Given the description of an element on the screen output the (x, y) to click on. 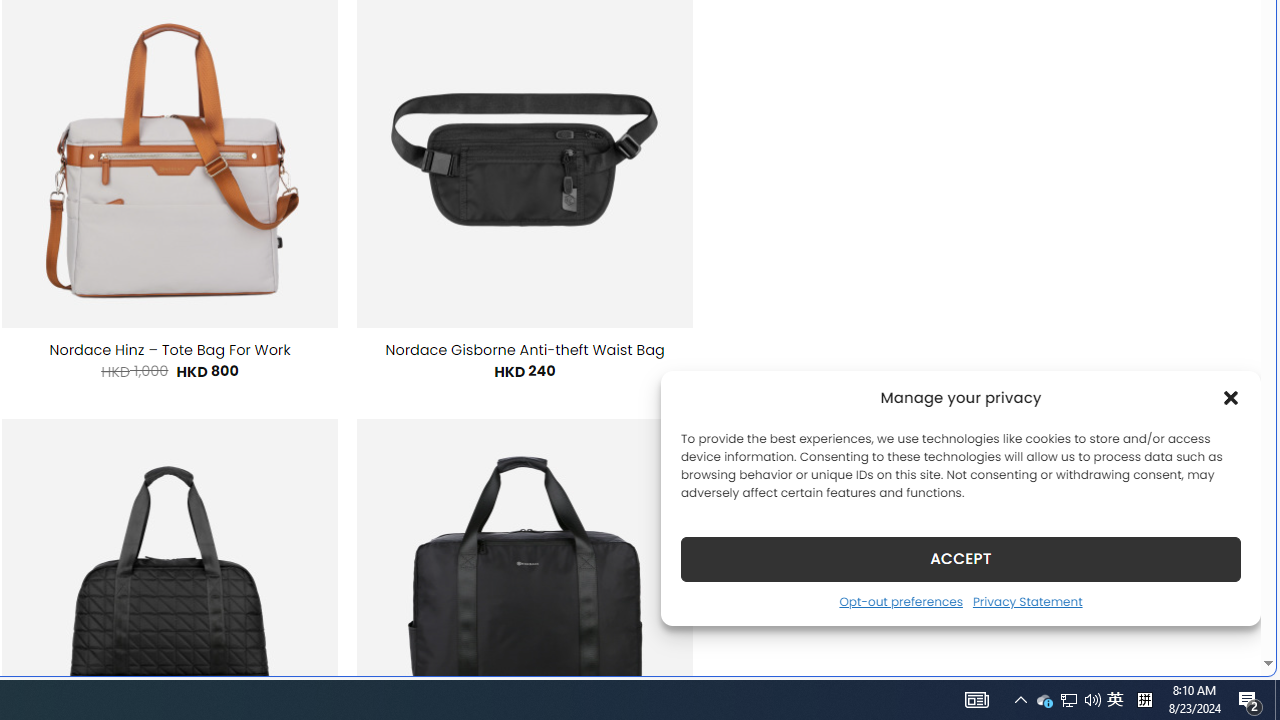
Nordace Gisborne Anti-theft Waist Bag (525, 350)
ACCEPT (960, 558)
Class: cmplz-close (1231, 397)
Opt-out preferences (900, 601)
Privacy Statement (1026, 601)
